Given the description of an element on the screen output the (x, y) to click on. 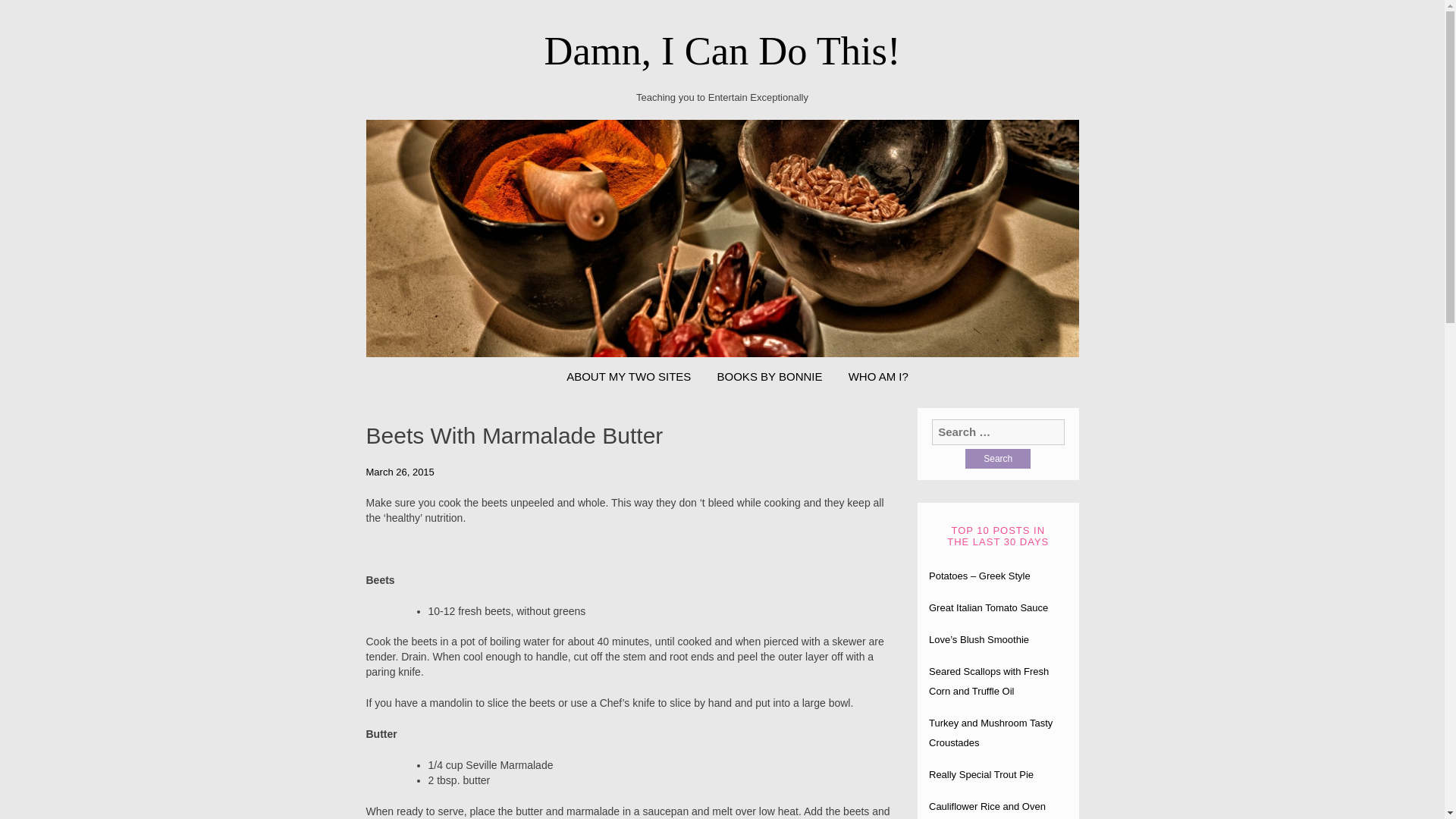
Search (997, 458)
WHO AM I? (878, 376)
Seared Scallops with Fresh Corn and Truffle Oil (988, 680)
Great Italian Tomato Sauce (988, 607)
Search (997, 458)
ABOUT MY TWO SITES (627, 376)
Cauliflower Rice and Oven Baked Trout (986, 809)
Really Special Trout Pie (980, 774)
Search (997, 458)
